Given the description of an element on the screen output the (x, y) to click on. 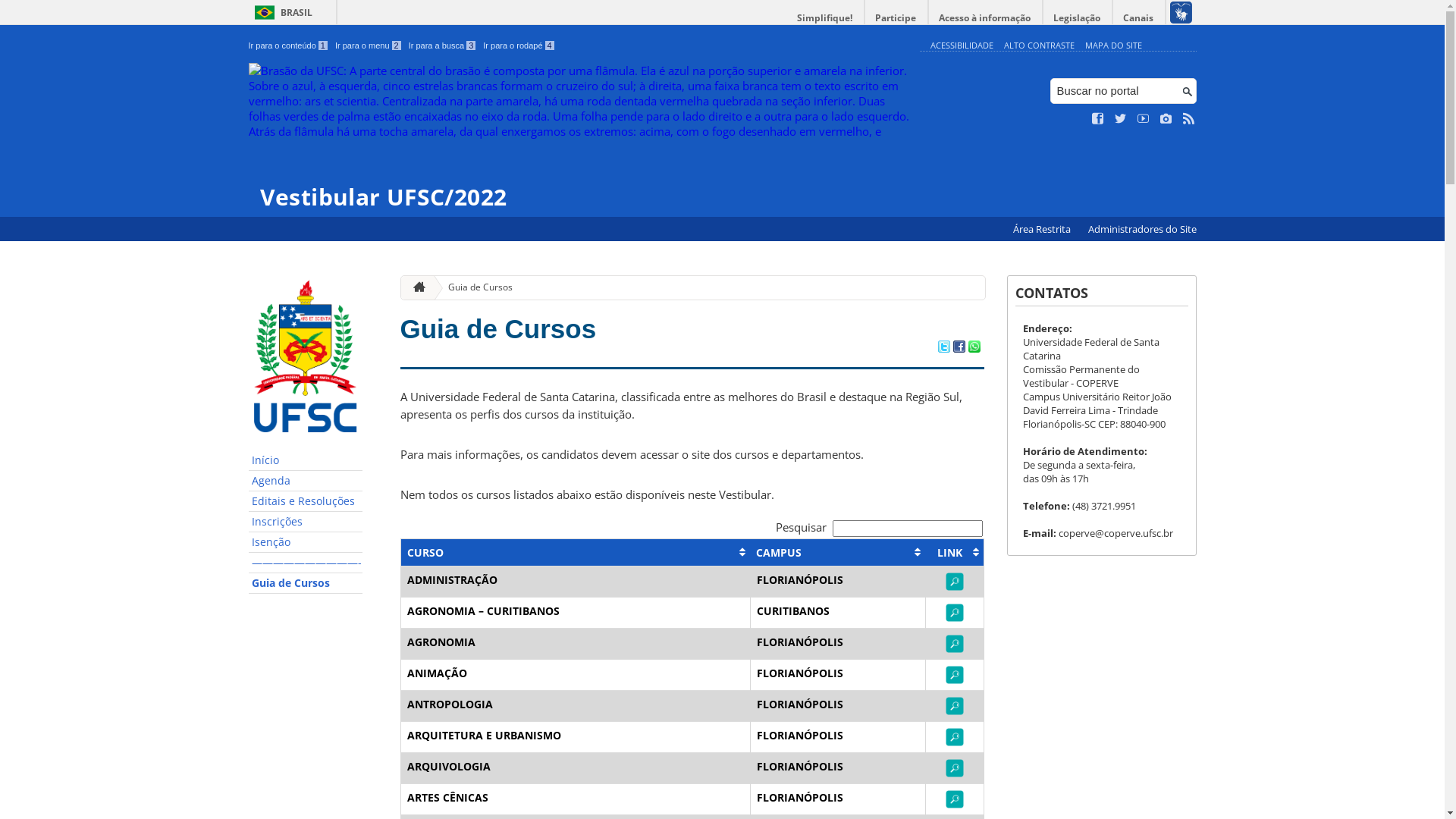
Compartilhar no Facebook Element type: hover (958, 347)
Guia de Cursos Element type: text (305, 583)
ARQUITETURA E URBANISMO Element type: text (483, 735)
Veja no Instagram Element type: hover (1166, 118)
Guia de Cursos Element type: text (498, 328)
Ir para a busca 3 Element type: text (442, 45)
ANTROPOLOGIA Element type: text (449, 703)
Compartilhar no WhatsApp Element type: hover (973, 347)
ARQUIVOLOGIA Element type: text (447, 766)
Agenda Element type: text (305, 480)
Siga no Twitter Element type: hover (1120, 118)
Canais Element type: text (1138, 18)
Vestibular UFSC/2022 Element type: text (580, 135)
Ir para o menu 2 Element type: text (368, 45)
AGRONOMIA Element type: text (440, 641)
BRASIL Element type: text (280, 12)
ALTO CONTRASTE Element type: text (1039, 44)
Compartilhar no Twitter Element type: hover (943, 347)
Guia de Cursos Element type: text (473, 287)
Participe Element type: text (895, 18)
ACESSIBILIDADE Element type: text (960, 44)
MAPA DO SITE Element type: text (1112, 44)
Administradores do Site Element type: text (1141, 228)
Curta no Facebook Element type: hover (1098, 118)
Simplifique! Element type: text (825, 18)
